Given the description of an element on the screen output the (x, y) to click on. 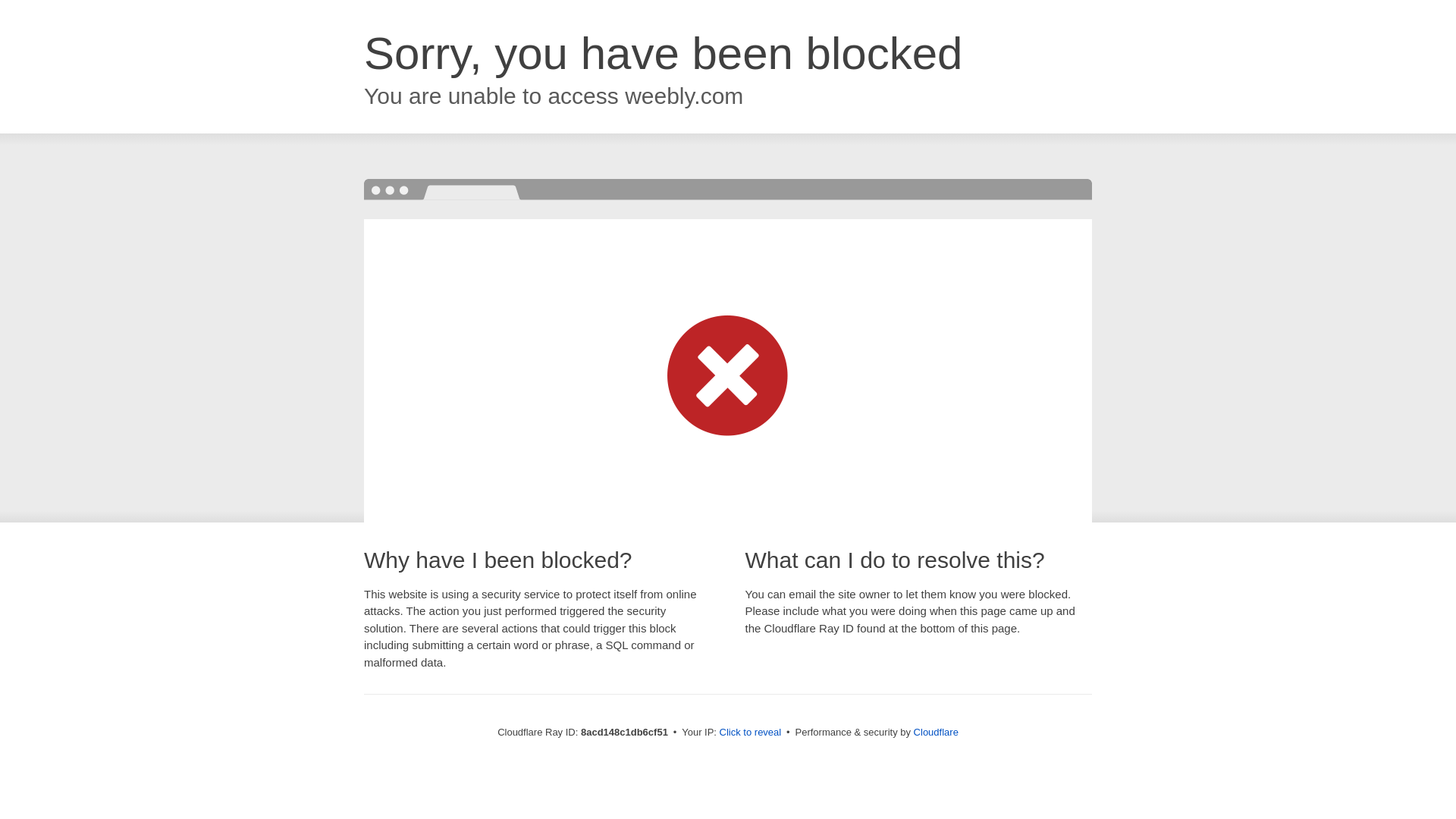
Cloudflare (936, 731)
Click to reveal (750, 732)
